Given the description of an element on the screen output the (x, y) to click on. 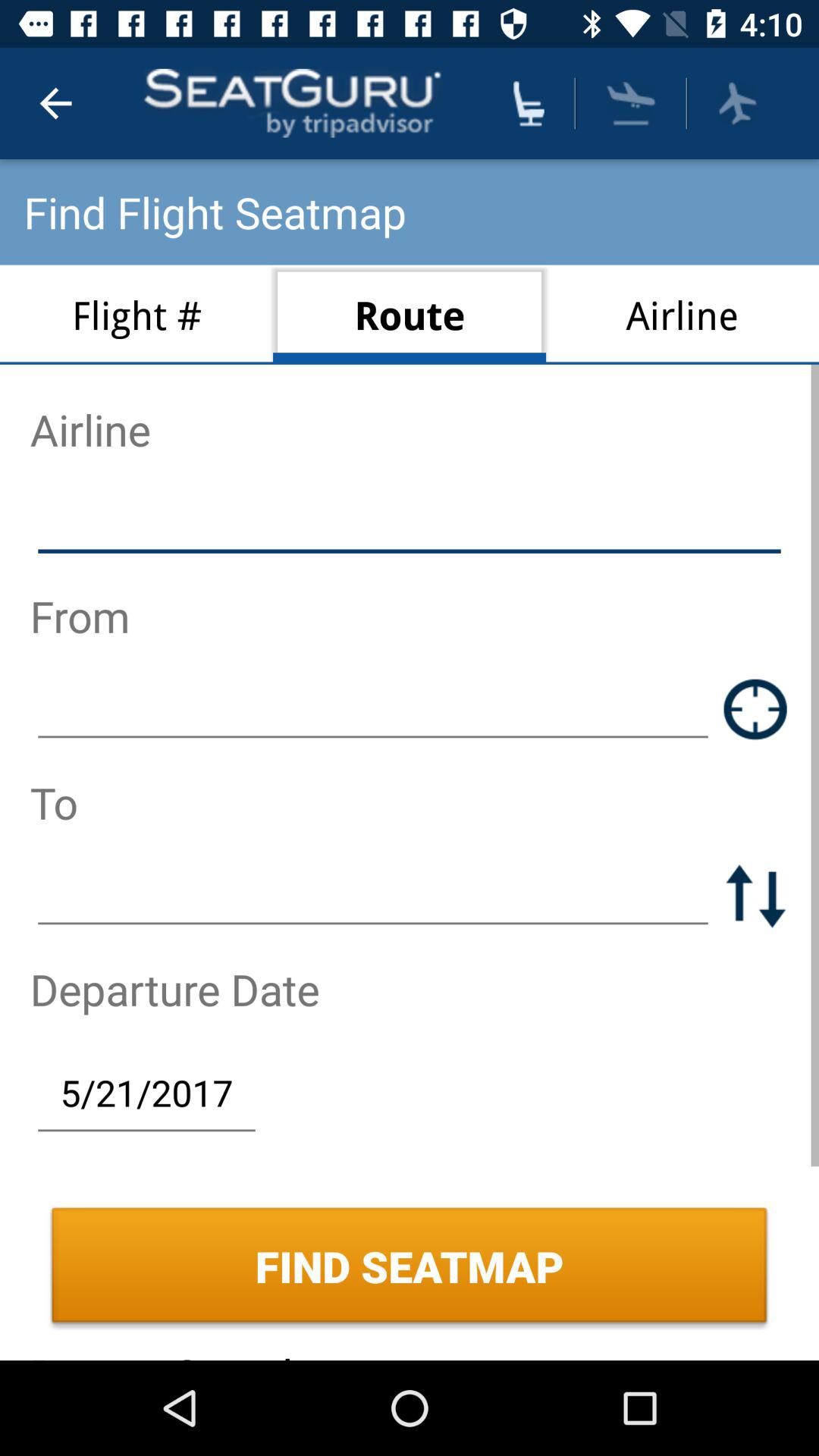
enter airport code (373, 708)
